Given the description of an element on the screen output the (x, y) to click on. 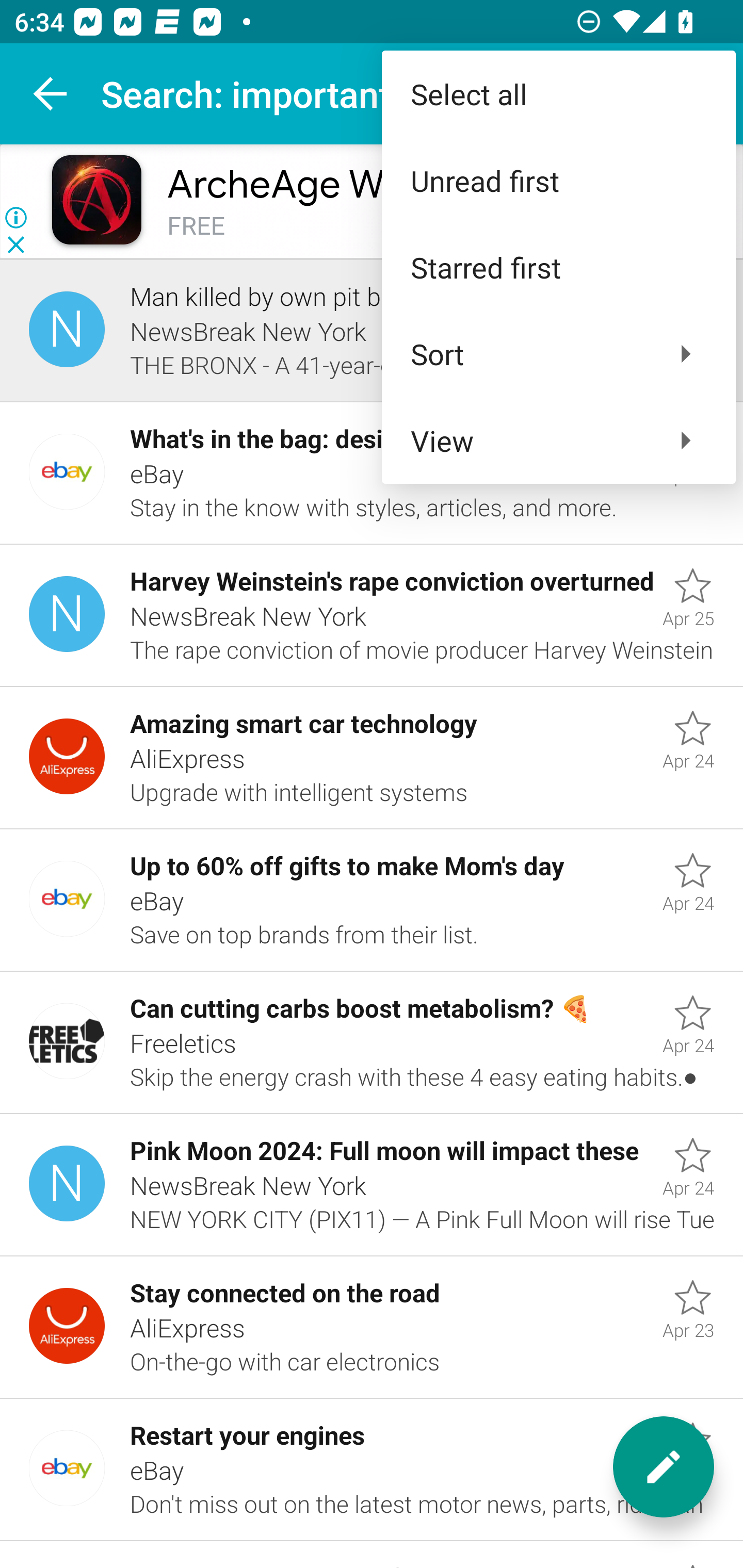
Select all (558, 93)
Unread first (558, 180)
Starred first (558, 267)
Sort (558, 353)
View (558, 440)
